Given the description of an element on the screen output the (x, y) to click on. 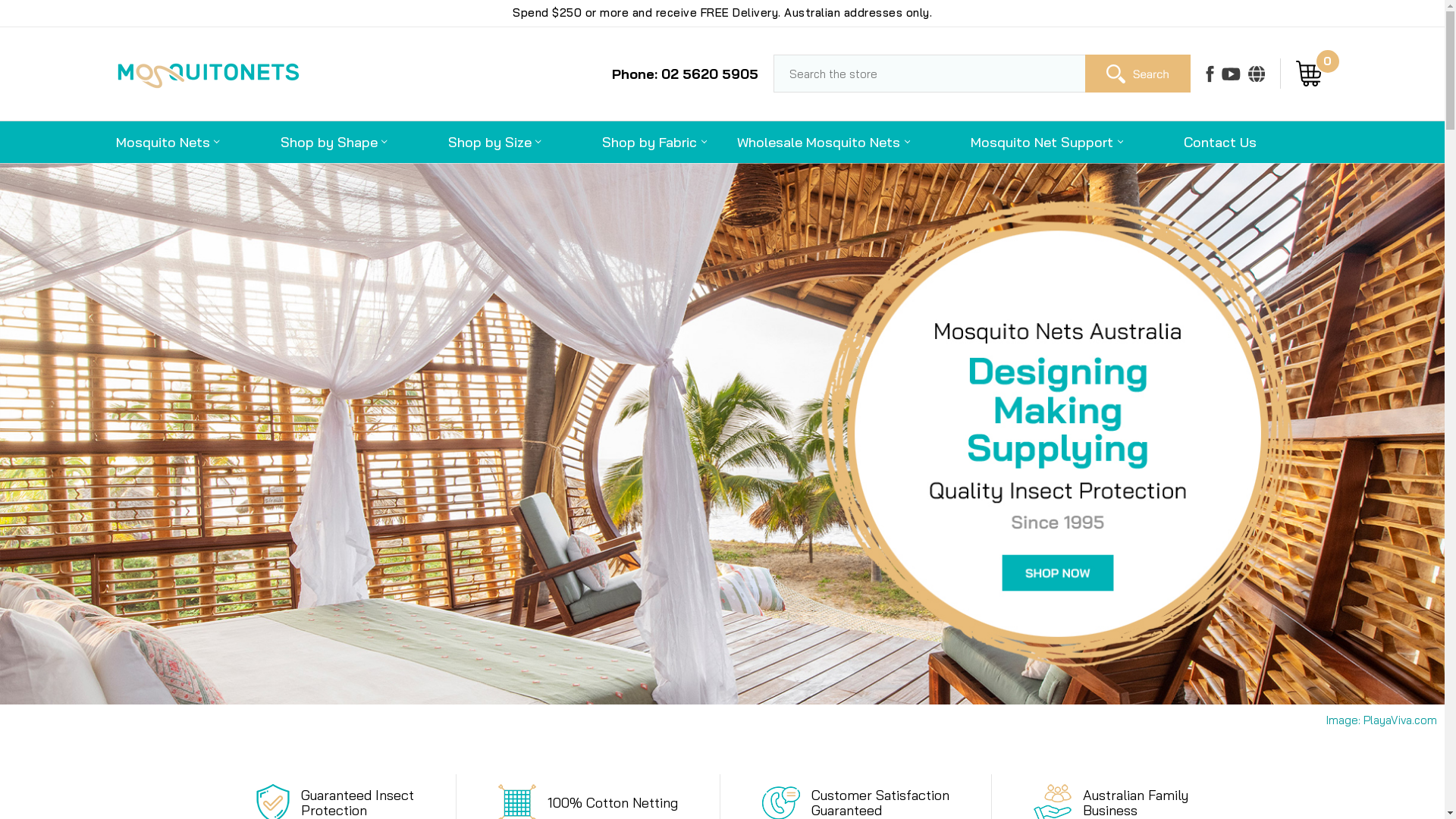
mosquitonets.com.au Element type: hover (207, 74)
Image: PlayaViva.com Element type: text (1381, 719)
Mosquito Nets Element type: text (182, 142)
Youtube Element type: text (1229, 73)
Search Element type: text (1136, 73)
Facebook Element type: text (1209, 73)
Mosquito Net Support Element type: text (1046, 142)
Shop by Size Element type: text (494, 142)
Shop by Fabric Element type: text (654, 142)
0 Element type: text (1311, 73)
Contact Us Element type: text (1219, 142)
Wholesale Mosquito Nets Element type: text (838, 142)
Shop by Shape Element type: text (333, 142)
